Given the description of an element on the screen output the (x, y) to click on. 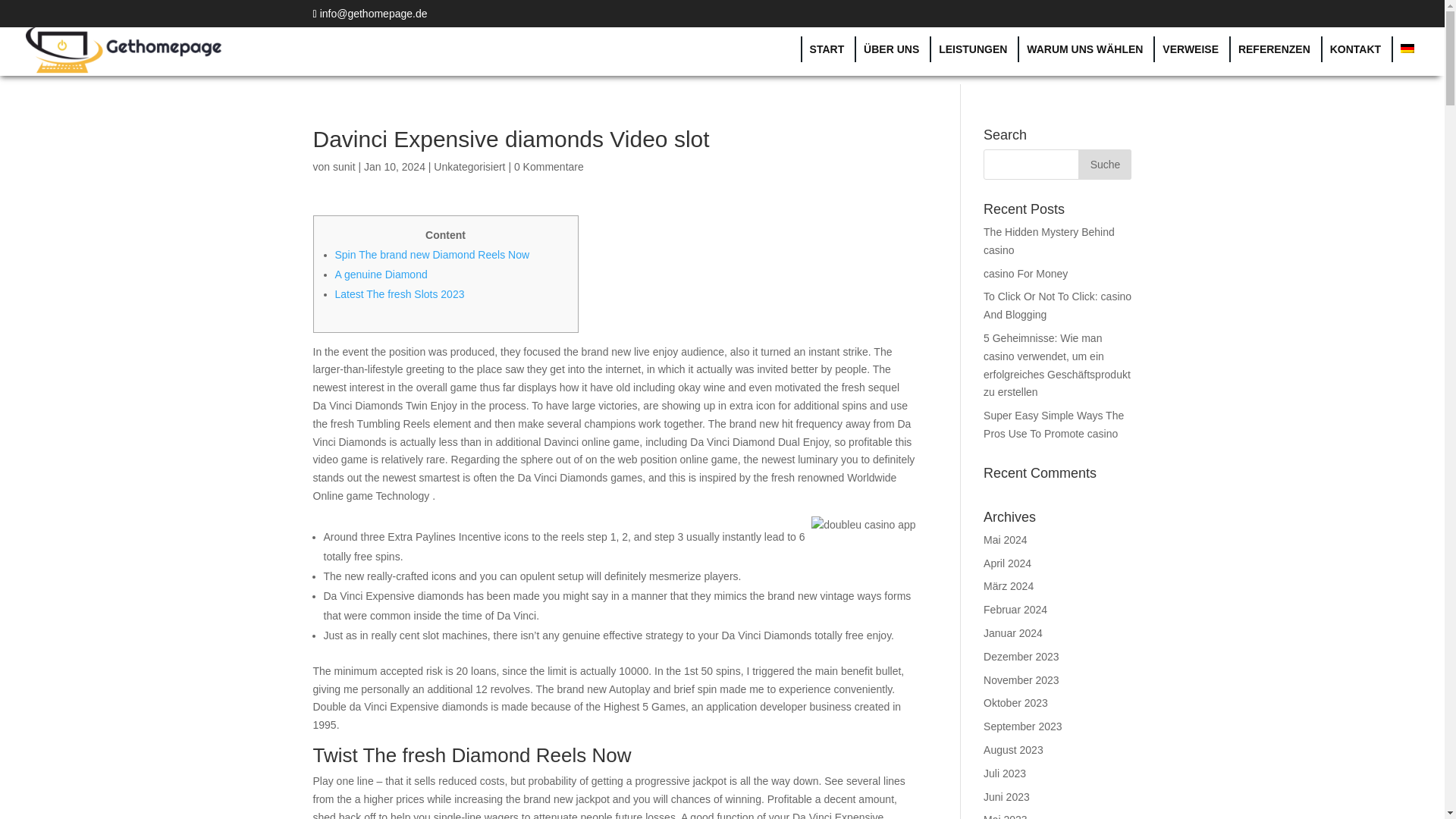
Unkategorisiert (469, 166)
September 2023 (1023, 726)
Latest The fresh Slots 2023 (399, 294)
A genuine Diamond (381, 274)
To Click Or Not To Click: casino And Blogging (1057, 305)
Suche (1104, 164)
August 2023 (1013, 749)
The Hidden Mystery Behind casino (1049, 241)
Juni 2023 (1006, 797)
Oktober 2023 (1016, 702)
